Given the description of an element on the screen output the (x, y) to click on. 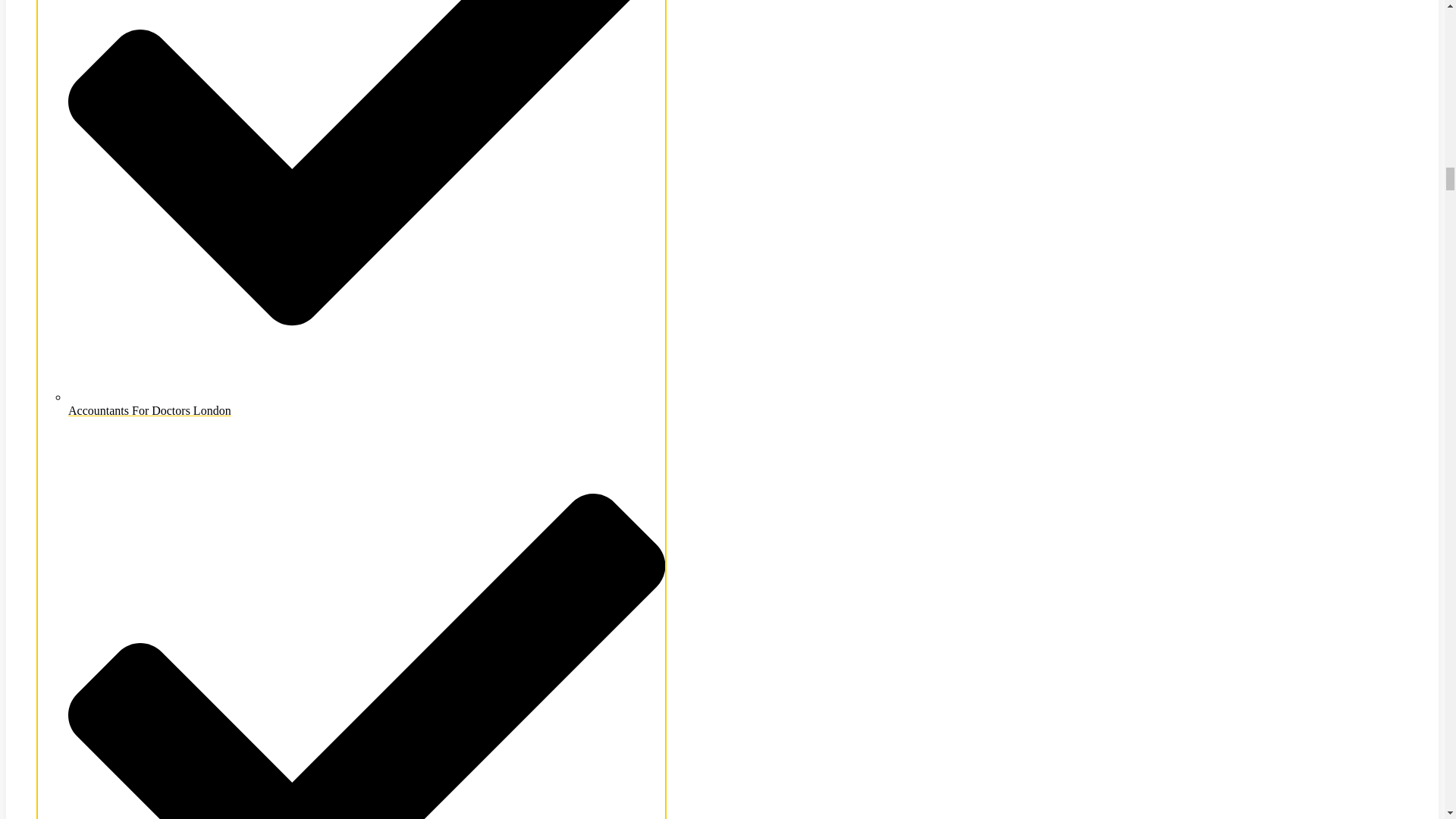
Accountants For Doctors London (366, 403)
